Given the description of an element on the screen output the (x, y) to click on. 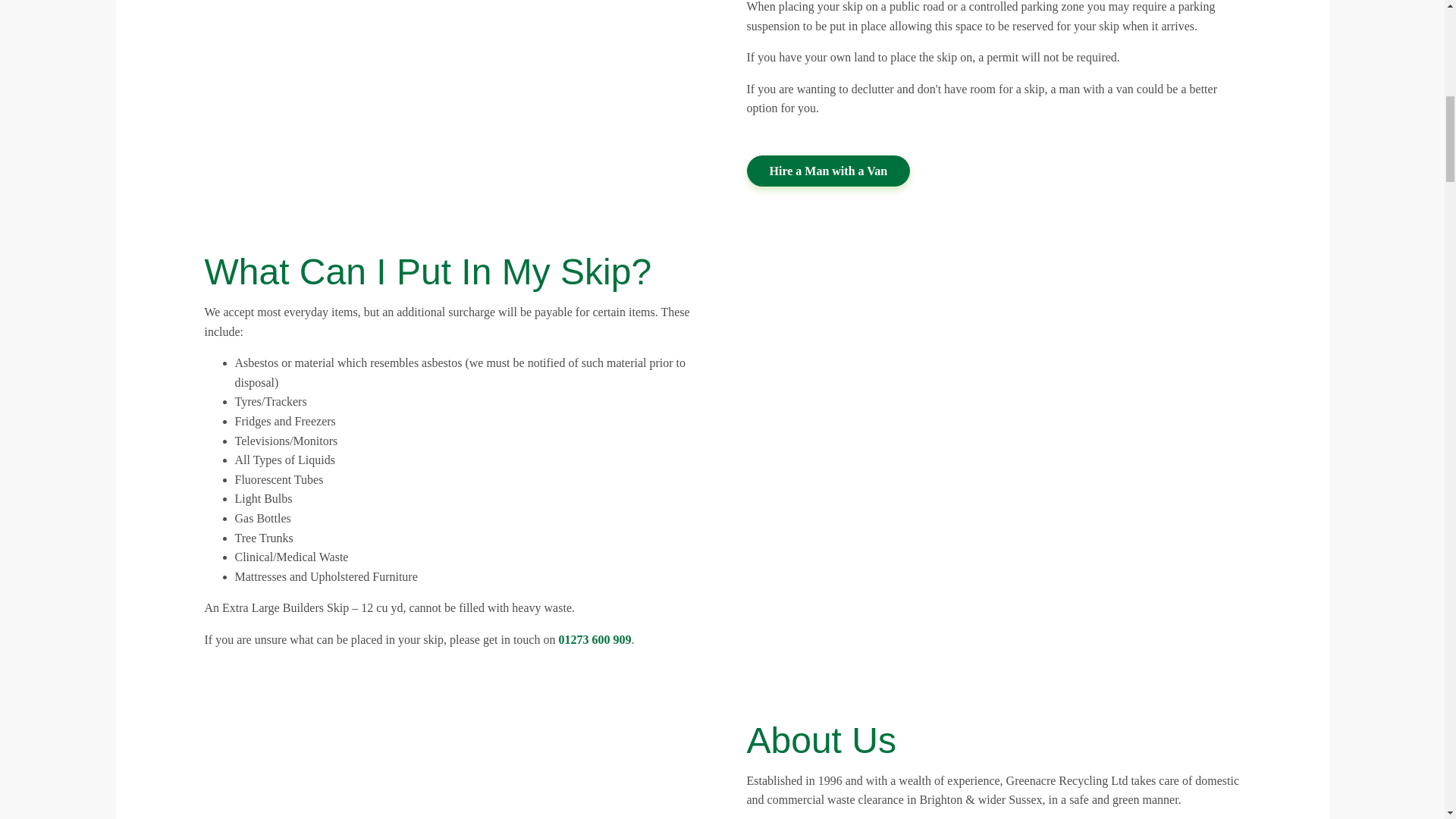
01273 600 909 (593, 639)
Hire a Man with a Van (827, 170)
